Given the description of an element on the screen output the (x, y) to click on. 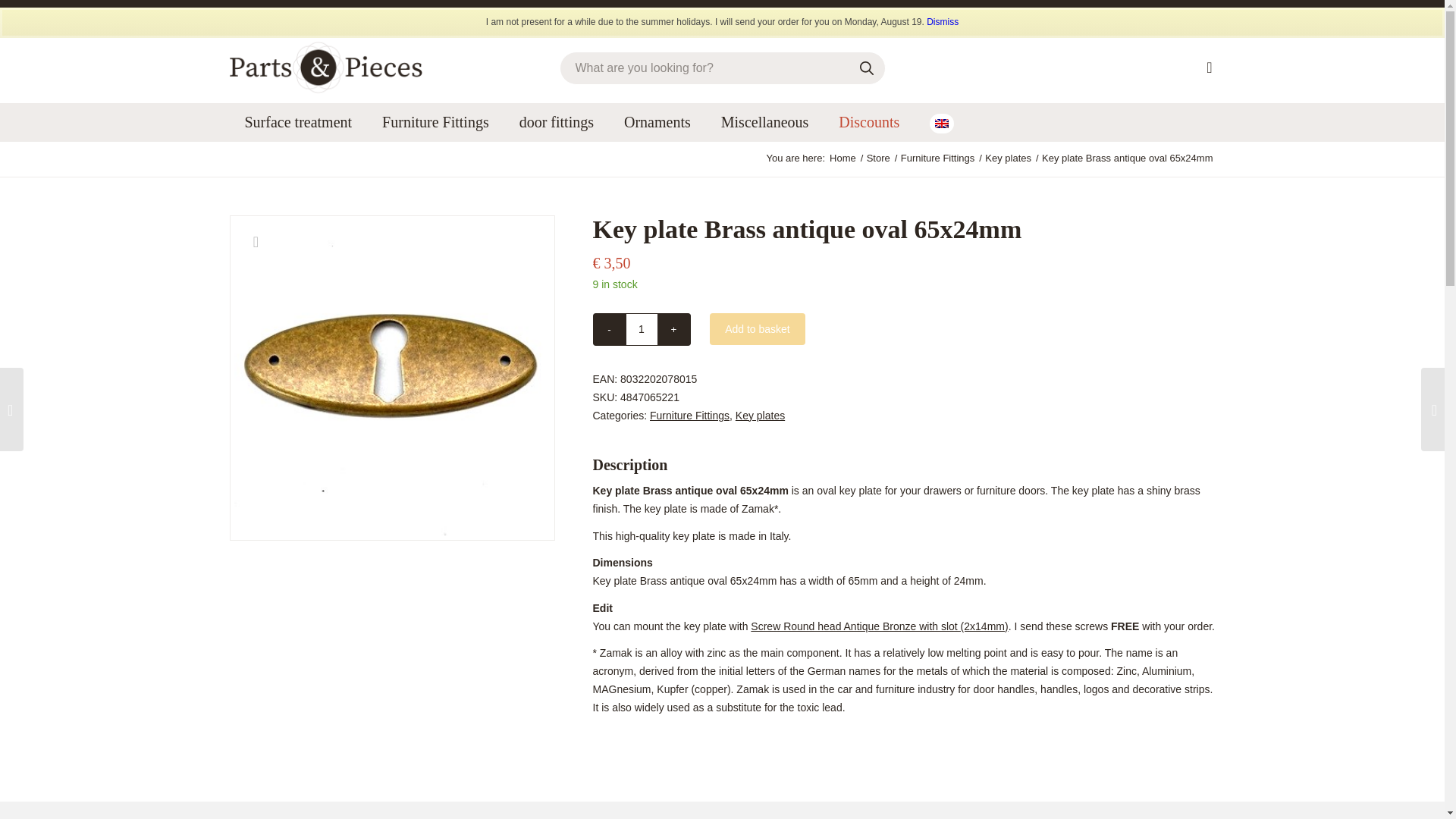
Logo parts and pieces (325, 67)
Key plates (1007, 157)
Key plate Brass antique oval 65x24mm (391, 378)
1 (641, 328)
About us (1125, 14)
Store (878, 157)
Surface treatment (297, 121)
Furniture Fittings (937, 157)
- (609, 328)
Account (1190, 14)
